Given the description of an element on the screen output the (x, y) to click on. 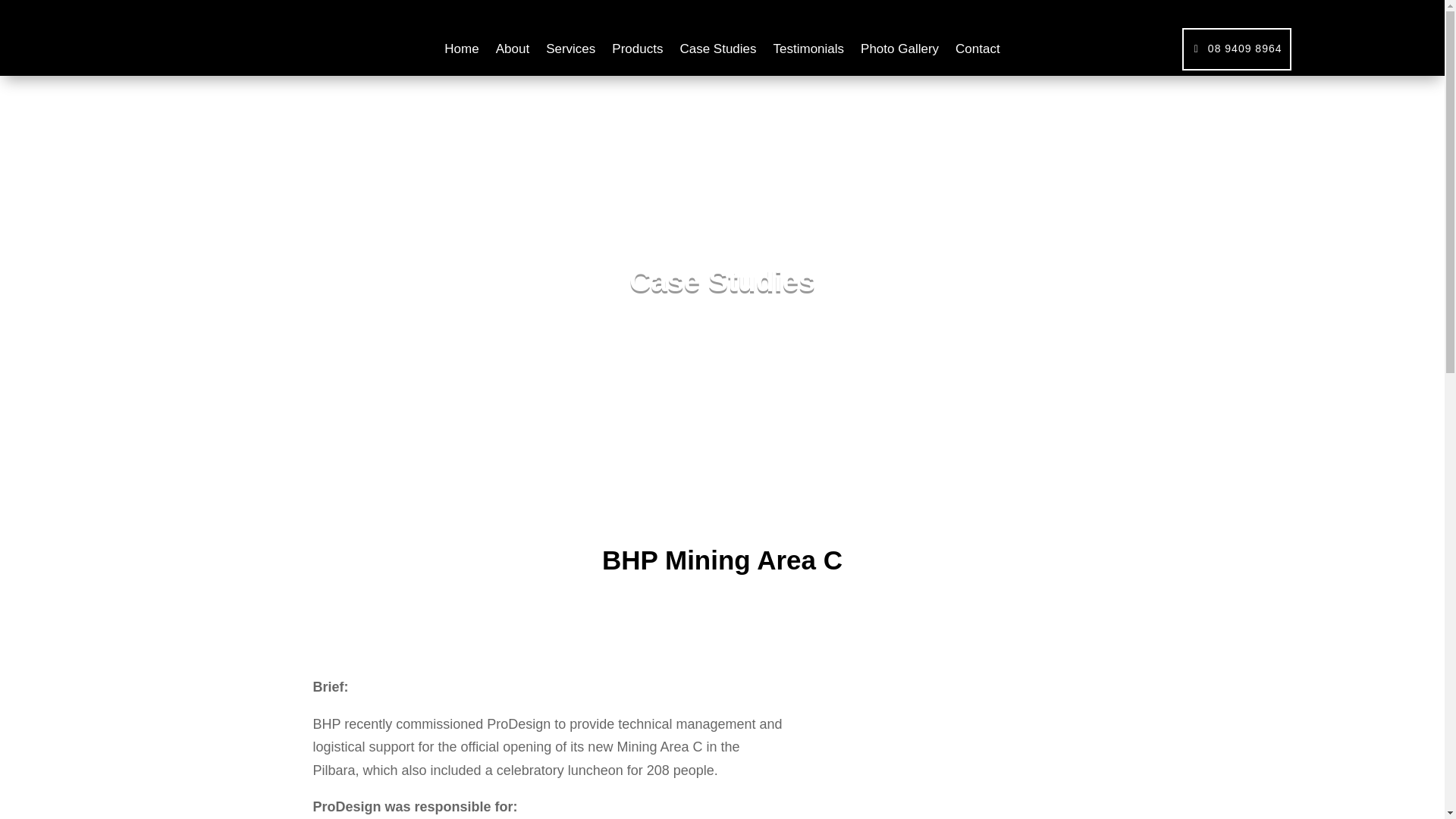
About (512, 52)
Photo Gallery (899, 52)
Case Studies (717, 52)
Contact (977, 52)
Testimonials (808, 52)
08 9409 8964 (1236, 48)
Services (570, 52)
Home (461, 52)
Products (636, 52)
